Given the description of an element on the screen output the (x, y) to click on. 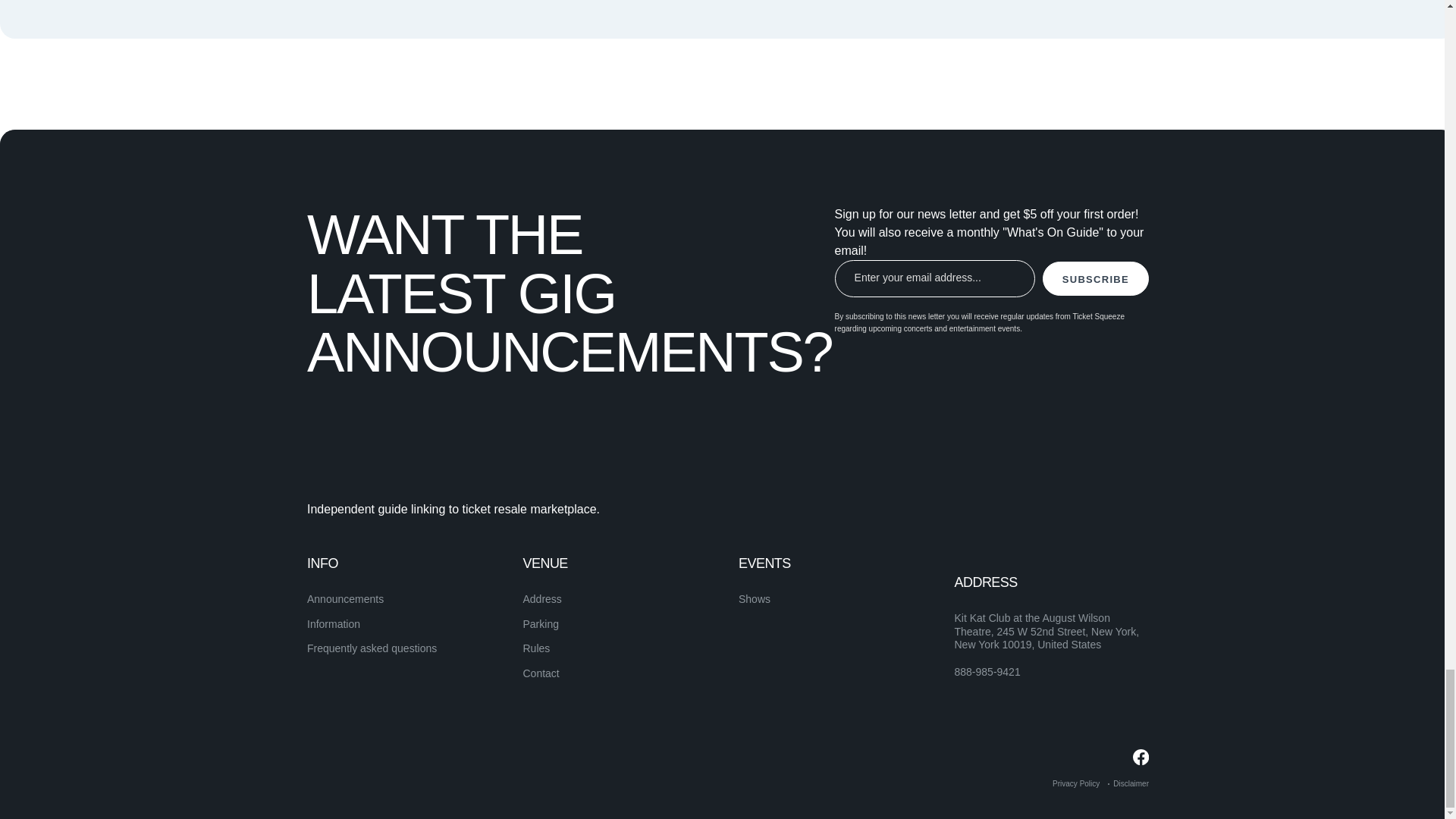
SUBSCRIBE (1095, 278)
Information (333, 623)
Contact (540, 673)
Announcements (345, 598)
888-985-9421 (986, 672)
Frequently asked questions (371, 648)
Parking (540, 623)
Privacy Policy (1075, 783)
Shows (754, 598)
Address (542, 598)
Rules (536, 648)
Disclaimer (1130, 783)
